Given the description of an element on the screen output the (x, y) to click on. 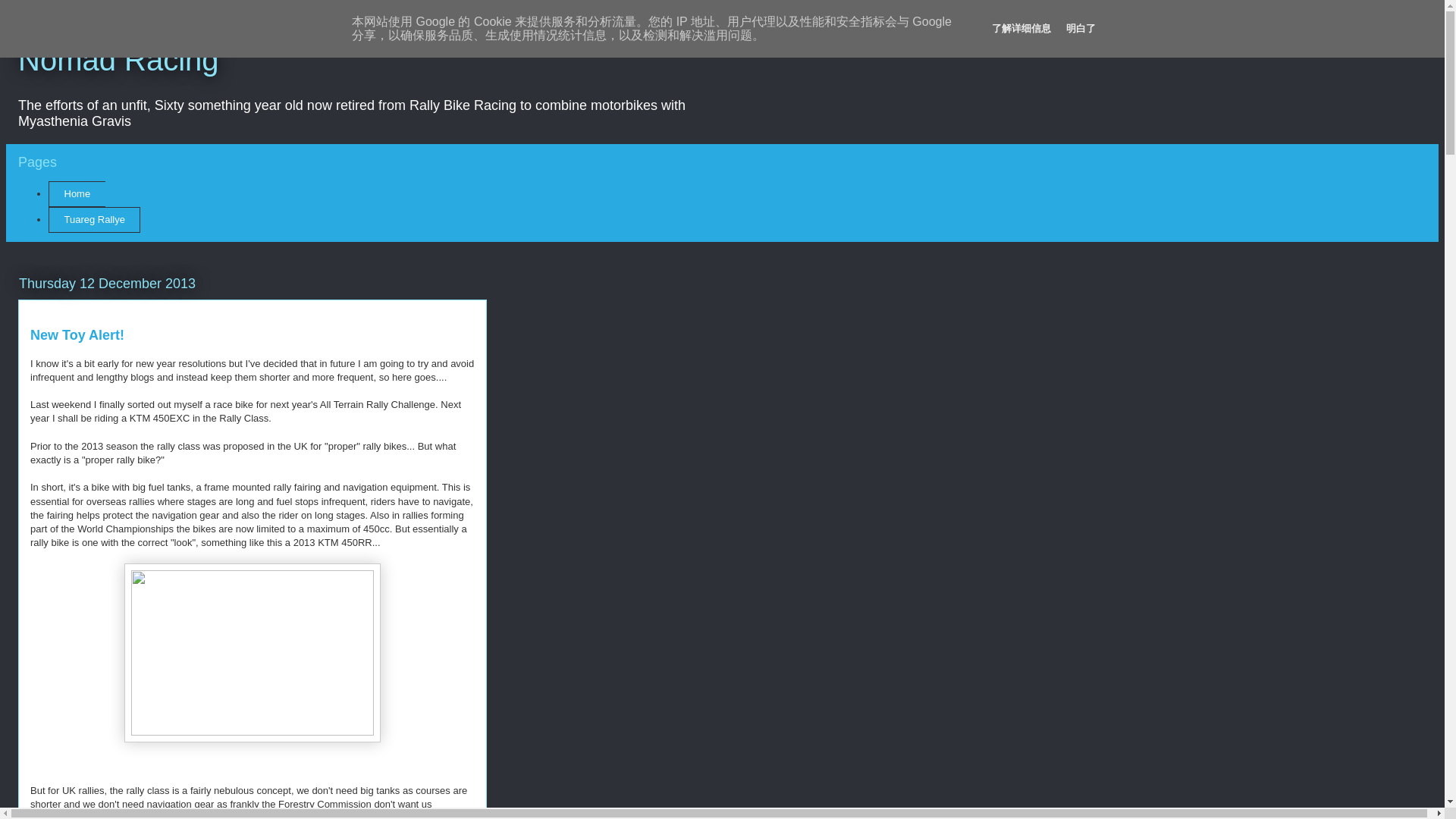
Nomad Racing (118, 59)
Tuareg Rallye (93, 219)
Home (76, 193)
